Given the description of an element on the screen output the (x, y) to click on. 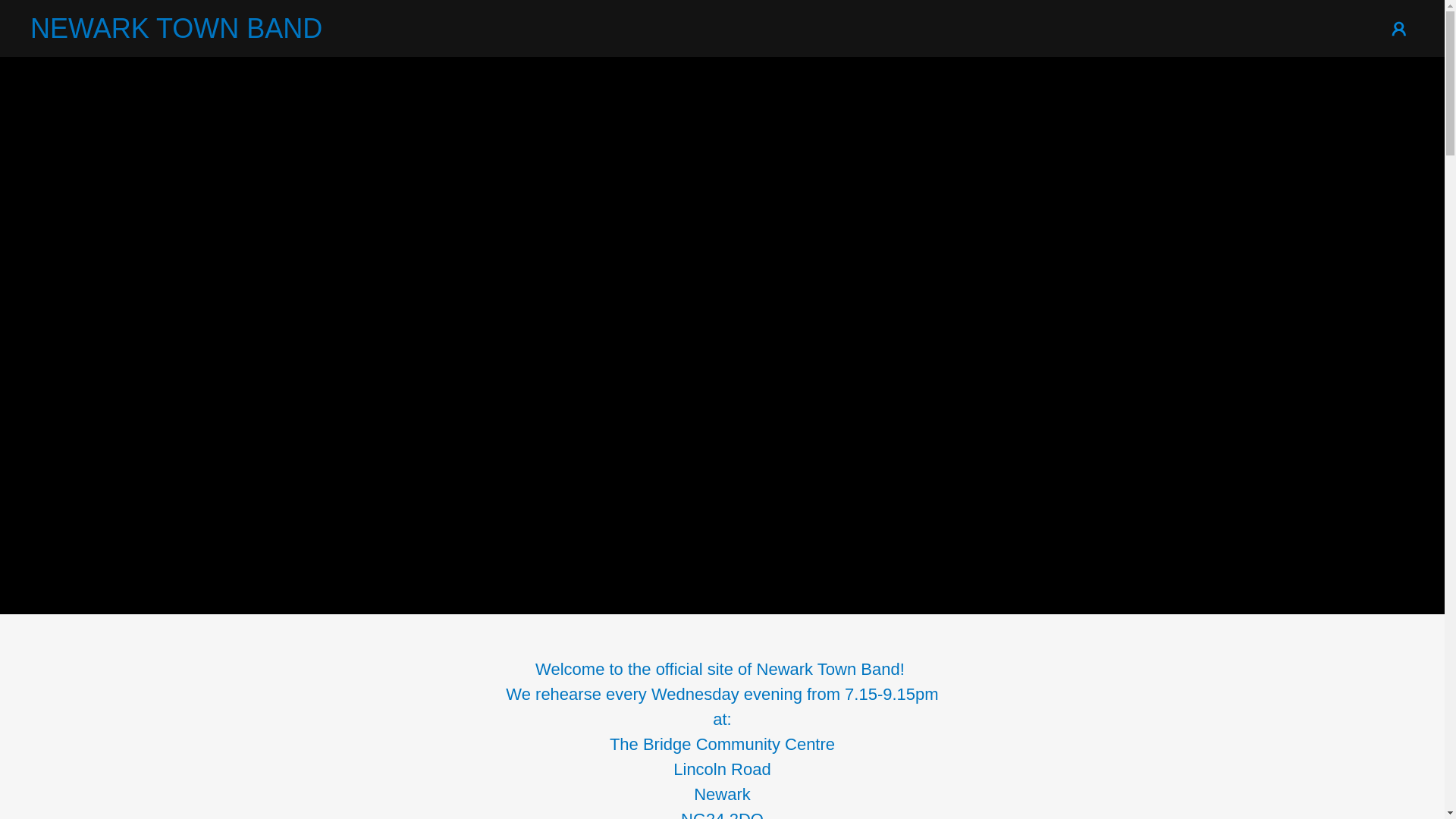
Newark Town Band (202, 33)
NEWARK TOWN BAND (202, 33)
